Given the description of an element on the screen output the (x, y) to click on. 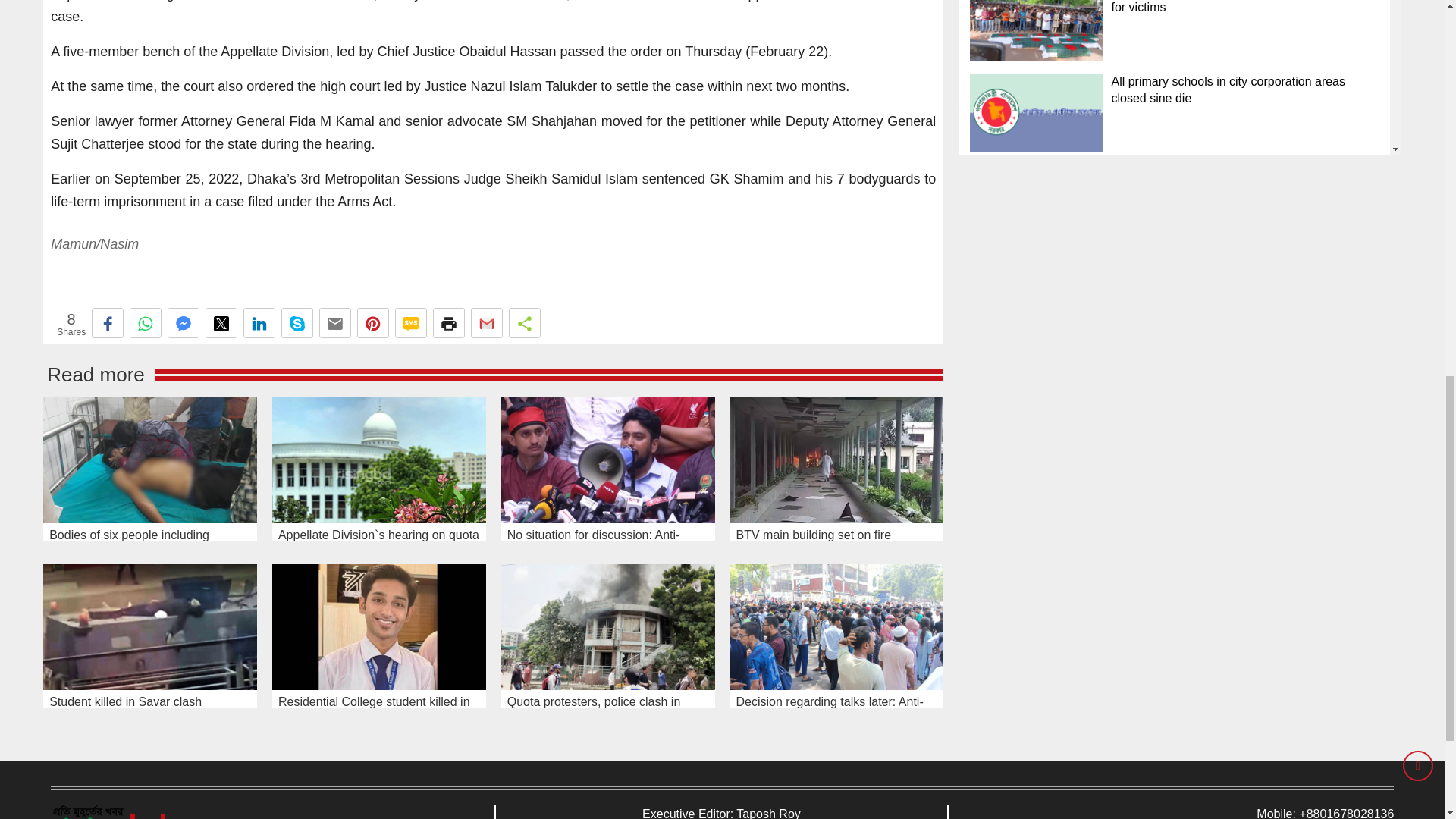
Bodies of six people including journalist at DMCH (150, 459)
Residential College student killed in clash with police (379, 626)
HSC exams of July 21, 23 and 25 suspended (1036, 68)
Residential College student killed in clash with police (1036, 8)
BTV main building set on fire (836, 459)
Student killed in Savar clash (150, 626)
